Given the description of an element on the screen output the (x, y) to click on. 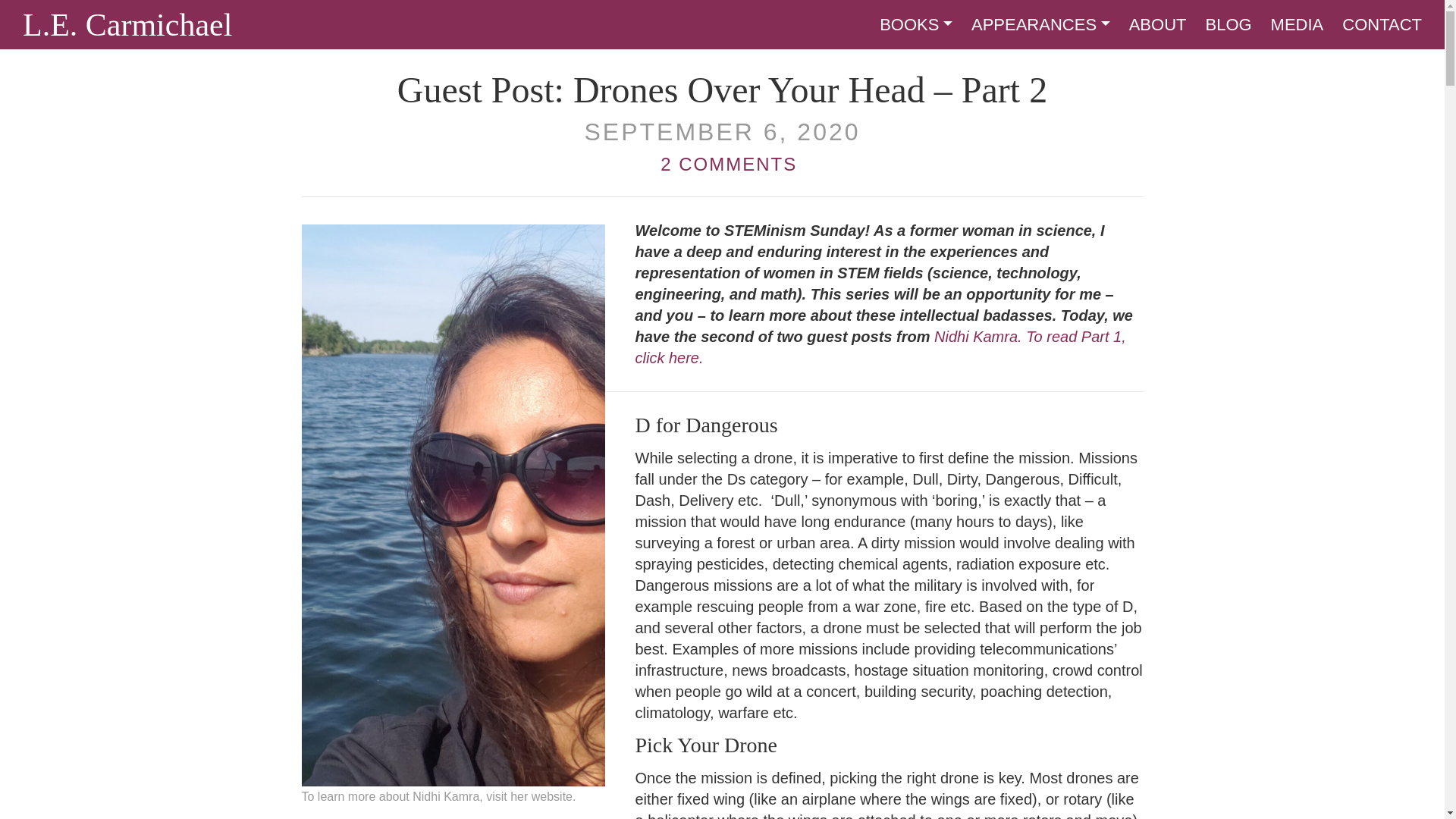
L.E. Carmichael (127, 30)
ABOUT (1157, 24)
Media (1297, 24)
Nidhi Kamra. (978, 336)
About (1157, 24)
To read Part 1, click here. (879, 347)
MEDIA (1297, 24)
Contact (1382, 24)
CONTACT (1382, 24)
APPEARANCES (1040, 24)
  2 COMMENTS (721, 163)
BOOKS (915, 24)
Books (915, 24)
Blog (1227, 24)
Appearances (1040, 24)
